Given the description of an element on the screen output the (x, y) to click on. 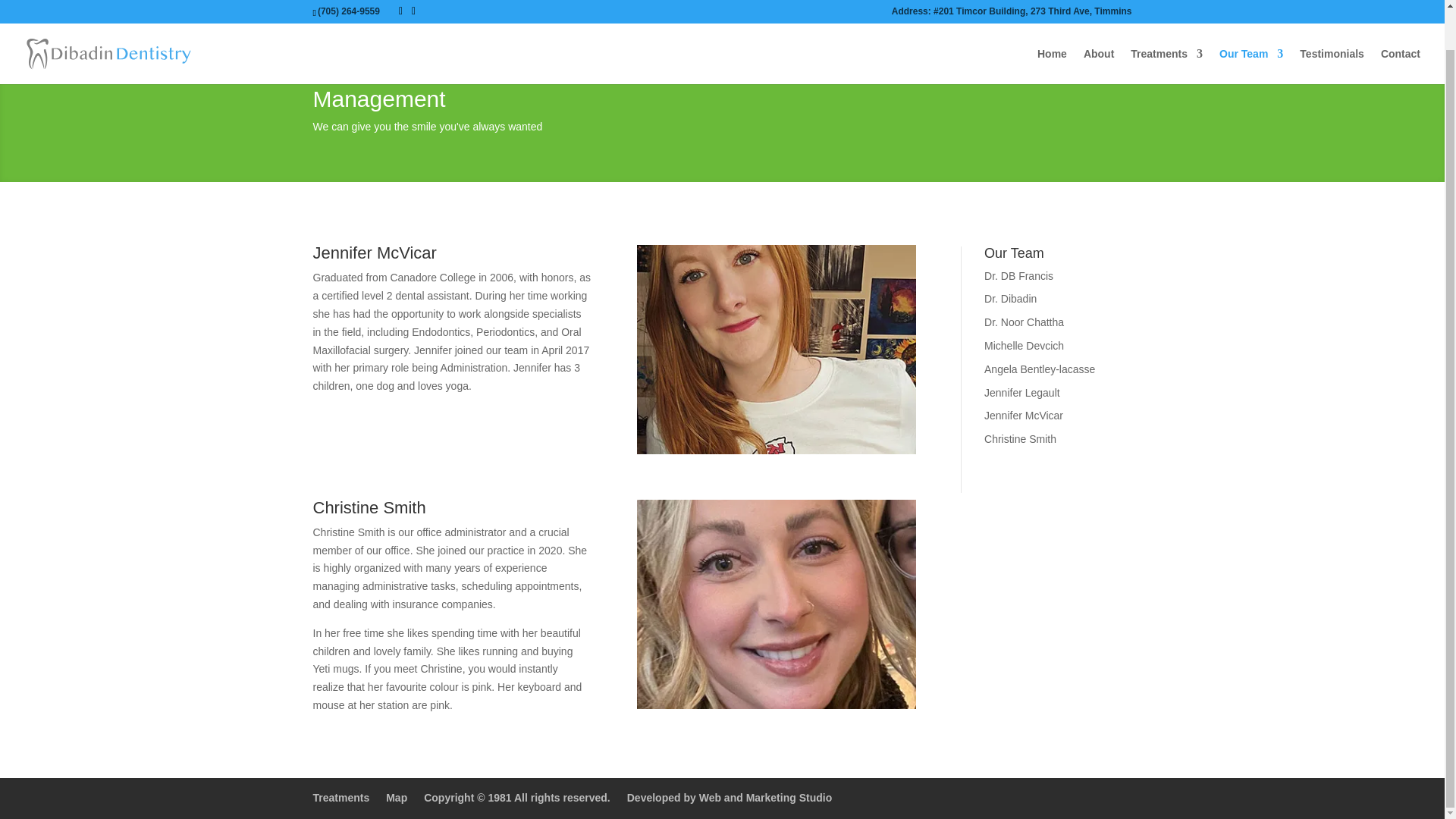
Jennifer-Mcvicar (776, 349)
Testimonials (1332, 24)
Christine-Smith (776, 604)
Home (1051, 24)
Our Team (1251, 24)
Treatments (1166, 24)
Contact (1400, 24)
About (1098, 24)
